Given the description of an element on the screen output the (x, y) to click on. 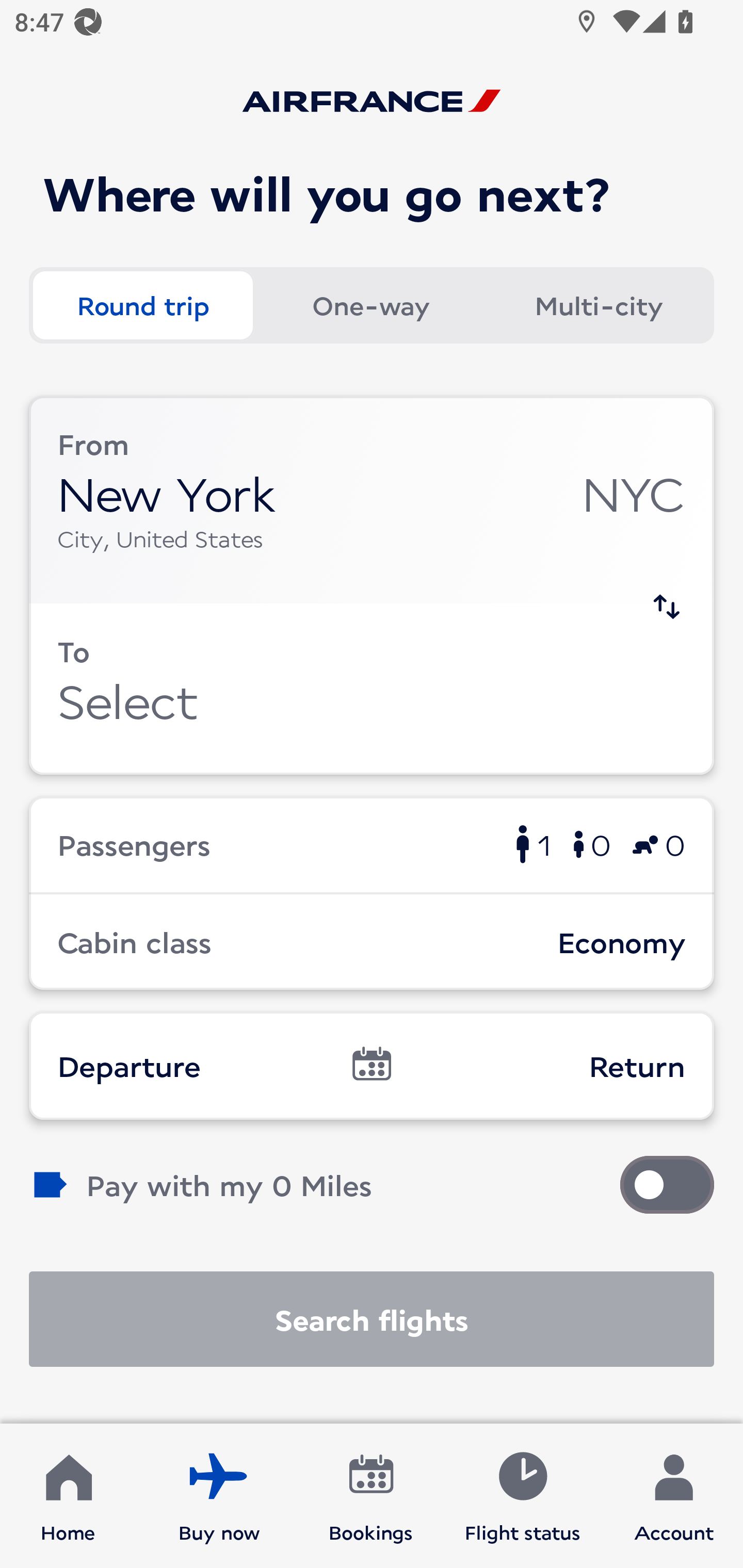
Round trip (142, 304)
One-way (370, 304)
Multi-city (598, 304)
From New York NYC City, United States (371, 499)
To Select (371, 688)
Passengers 1 0 0 (371, 844)
Cabin class Economy (371, 941)
Departure Return (371, 1065)
Search flights (371, 1319)
Home (68, 1495)
Bookings (370, 1495)
Flight status (522, 1495)
Account (674, 1495)
